Given the description of an element on the screen output the (x, y) to click on. 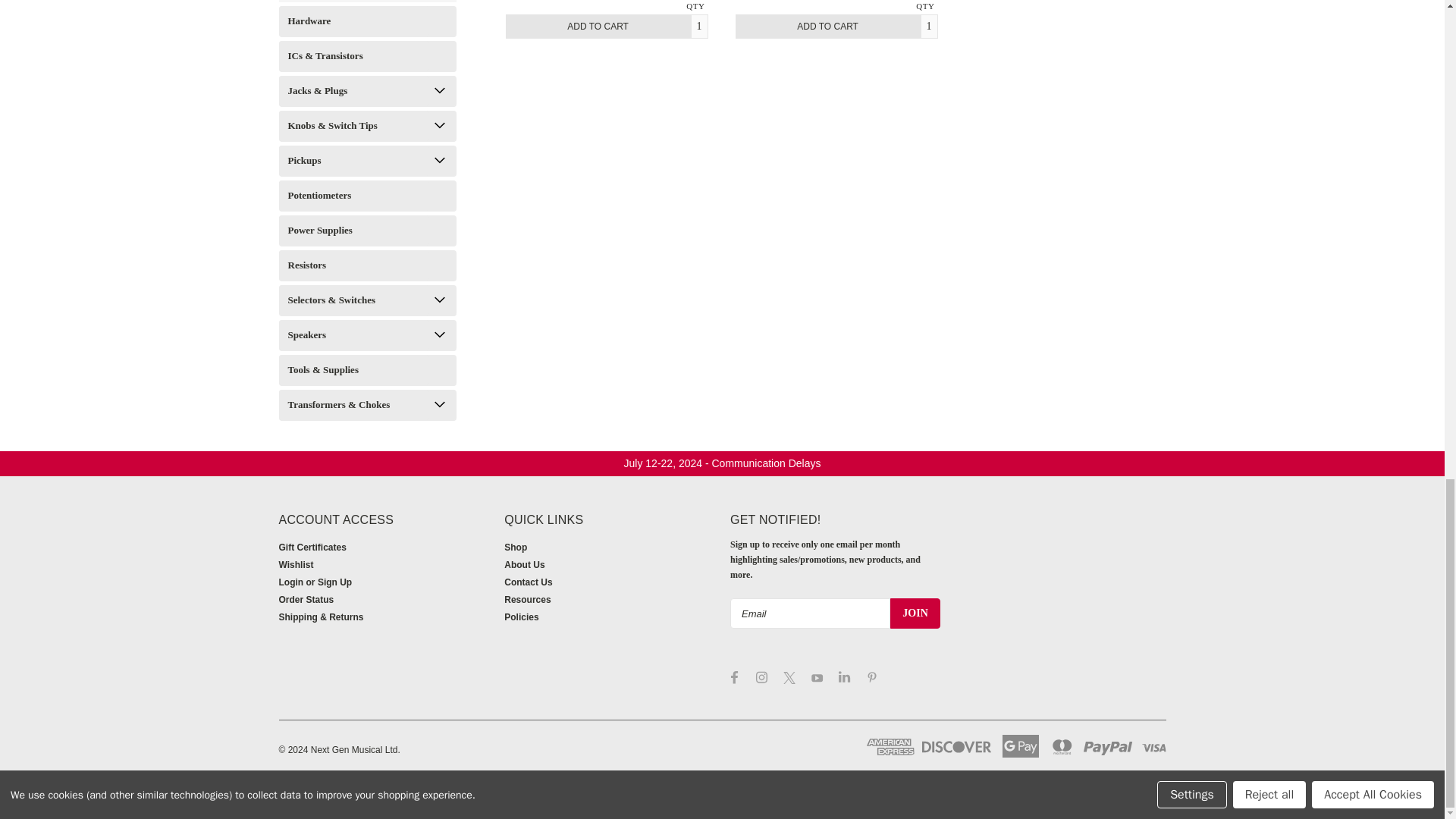
Join (914, 613)
